Given the description of an element on the screen output the (x, y) to click on. 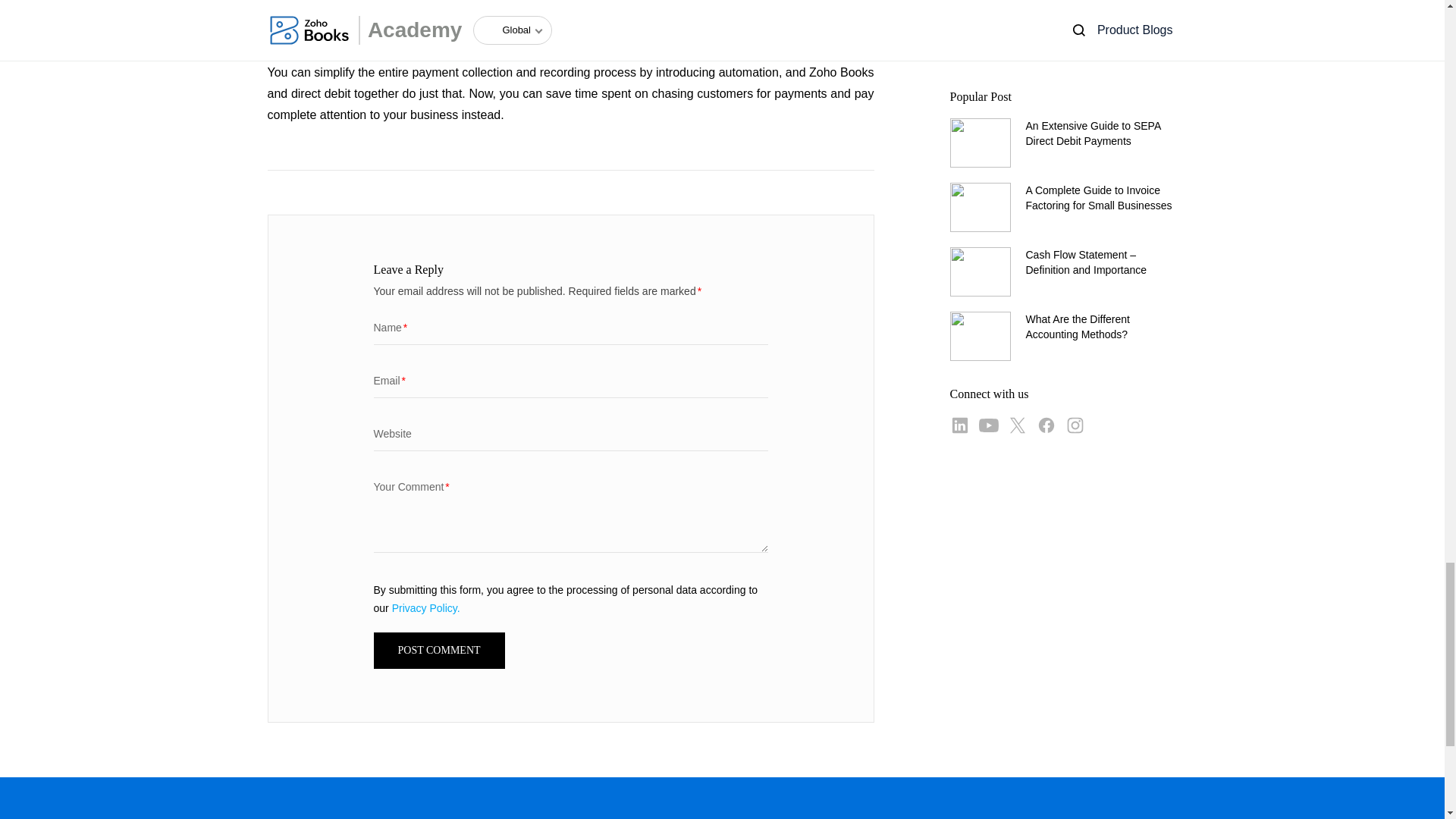
POST COMMENT (437, 650)
Privacy Policy. (425, 607)
POST COMMENT (437, 650)
